Given the description of an element on the screen output the (x, y) to click on. 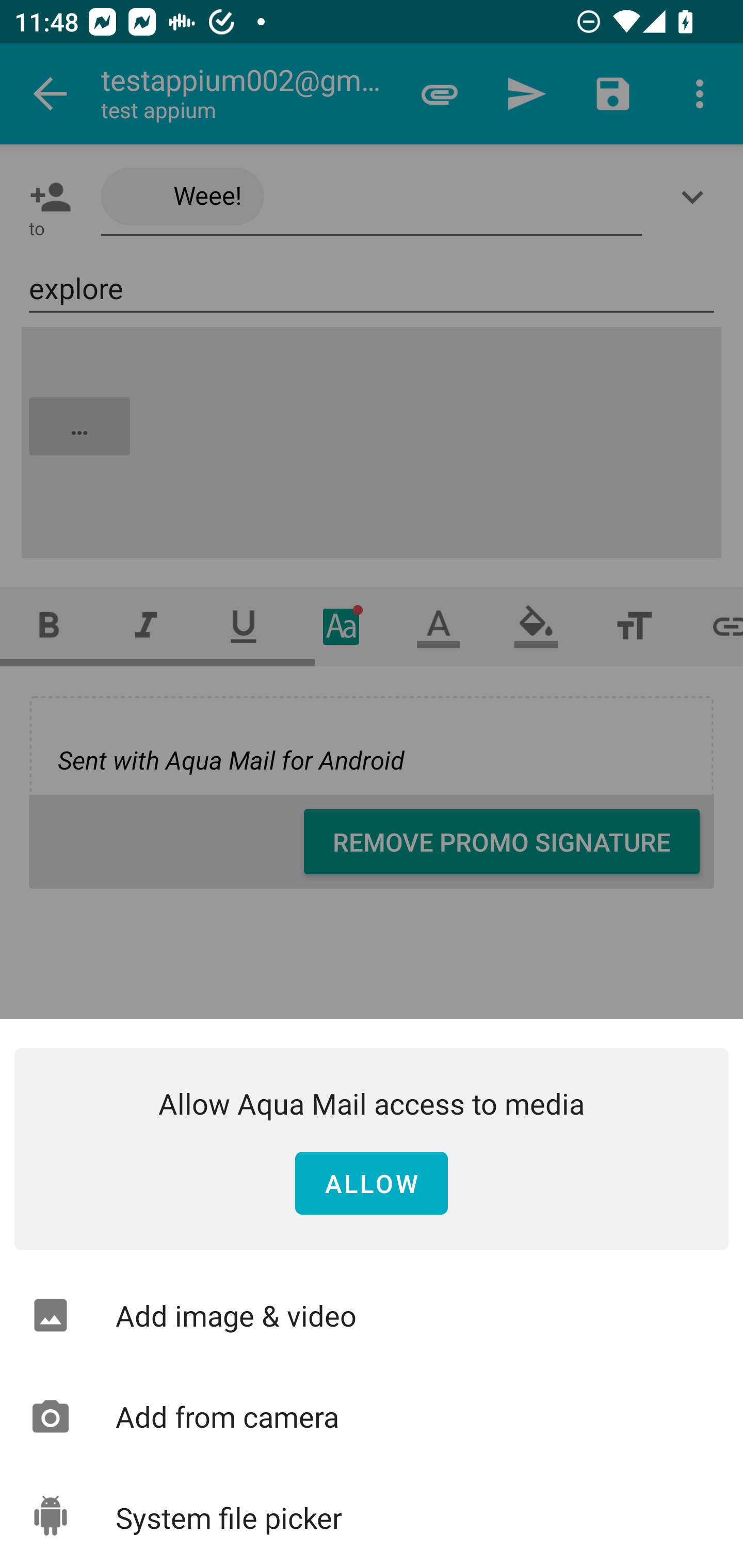
ALLOW (371, 1183)
